Given the description of an element on the screen output the (x, y) to click on. 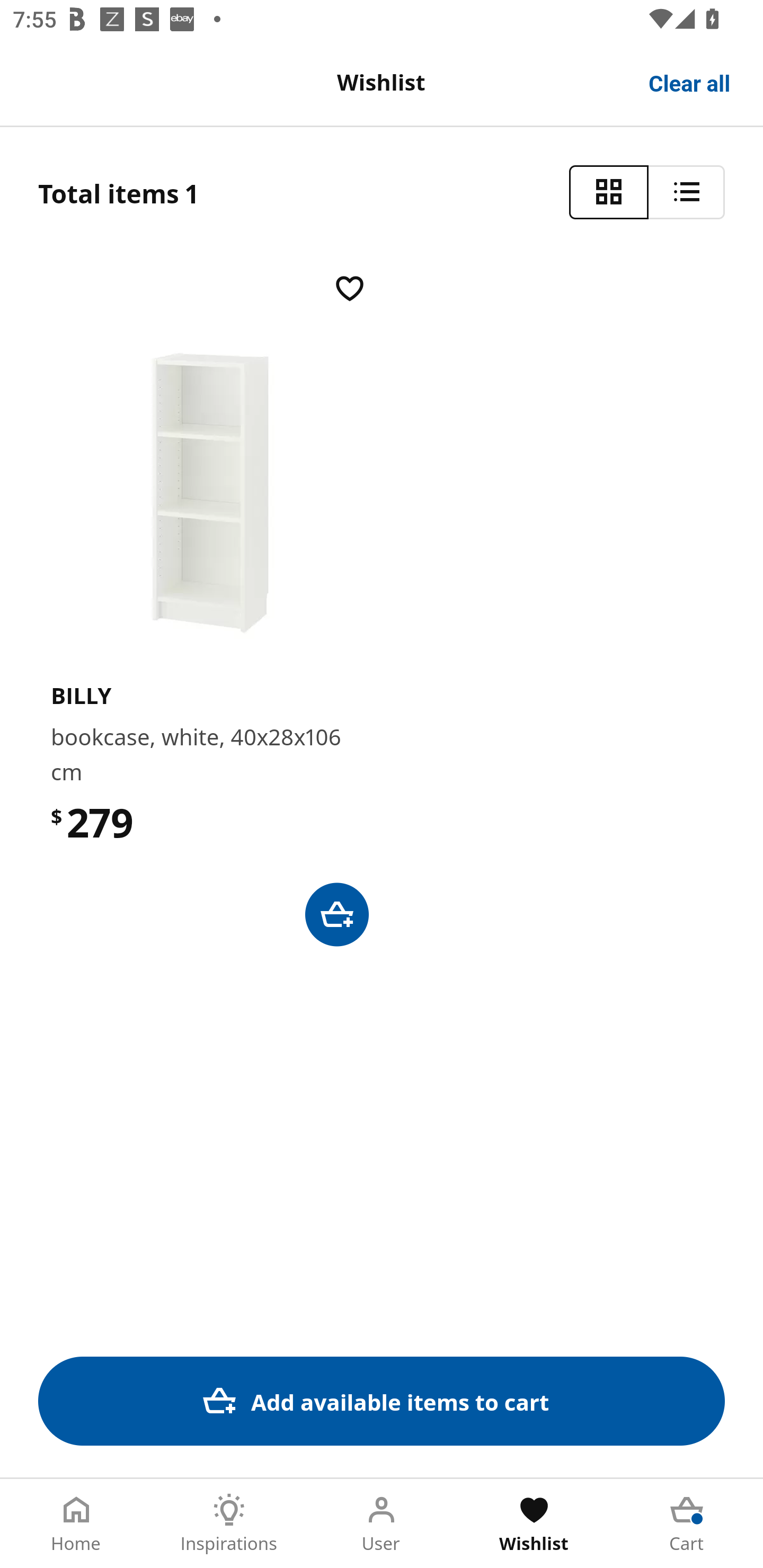
Clear all (689, 81)
​B​I​L​L​Y​
bookcase, white, 40x28x106 cm
$
279 (381, 608)
Add available items to cart (381, 1400)
Home
Tab 1 of 5 (76, 1522)
Inspirations
Tab 2 of 5 (228, 1522)
User
Tab 3 of 5 (381, 1522)
Wishlist
Tab 4 of 5 (533, 1522)
Cart
Tab 5 of 5 (686, 1522)
